Given the description of an element on the screen output the (x, y) to click on. 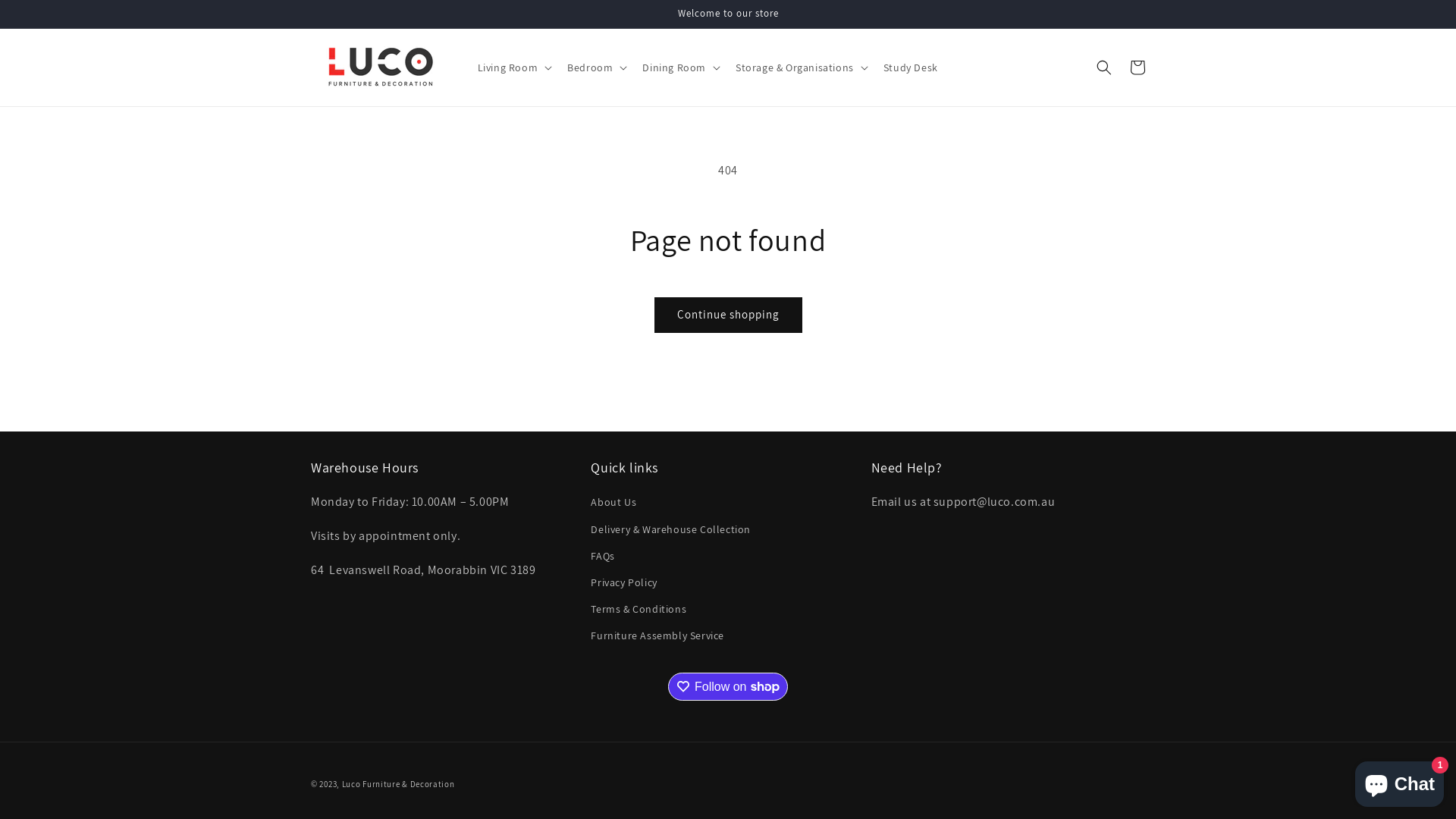
Study Desk Element type: text (910, 67)
Cart Element type: text (1137, 67)
Continue shopping Element type: text (727, 314)
FAQs Element type: text (602, 555)
Privacy Policy Element type: text (623, 582)
Furniture Assembly Service Element type: text (657, 635)
Luco Furniture & Decoration Element type: text (398, 783)
Delivery & Warehouse Collection Element type: text (670, 529)
About Us Element type: text (613, 503)
Shopify online store chat Element type: hover (1399, 780)
Terms & Conditions Element type: text (638, 609)
